Given the description of an element on the screen output the (x, y) to click on. 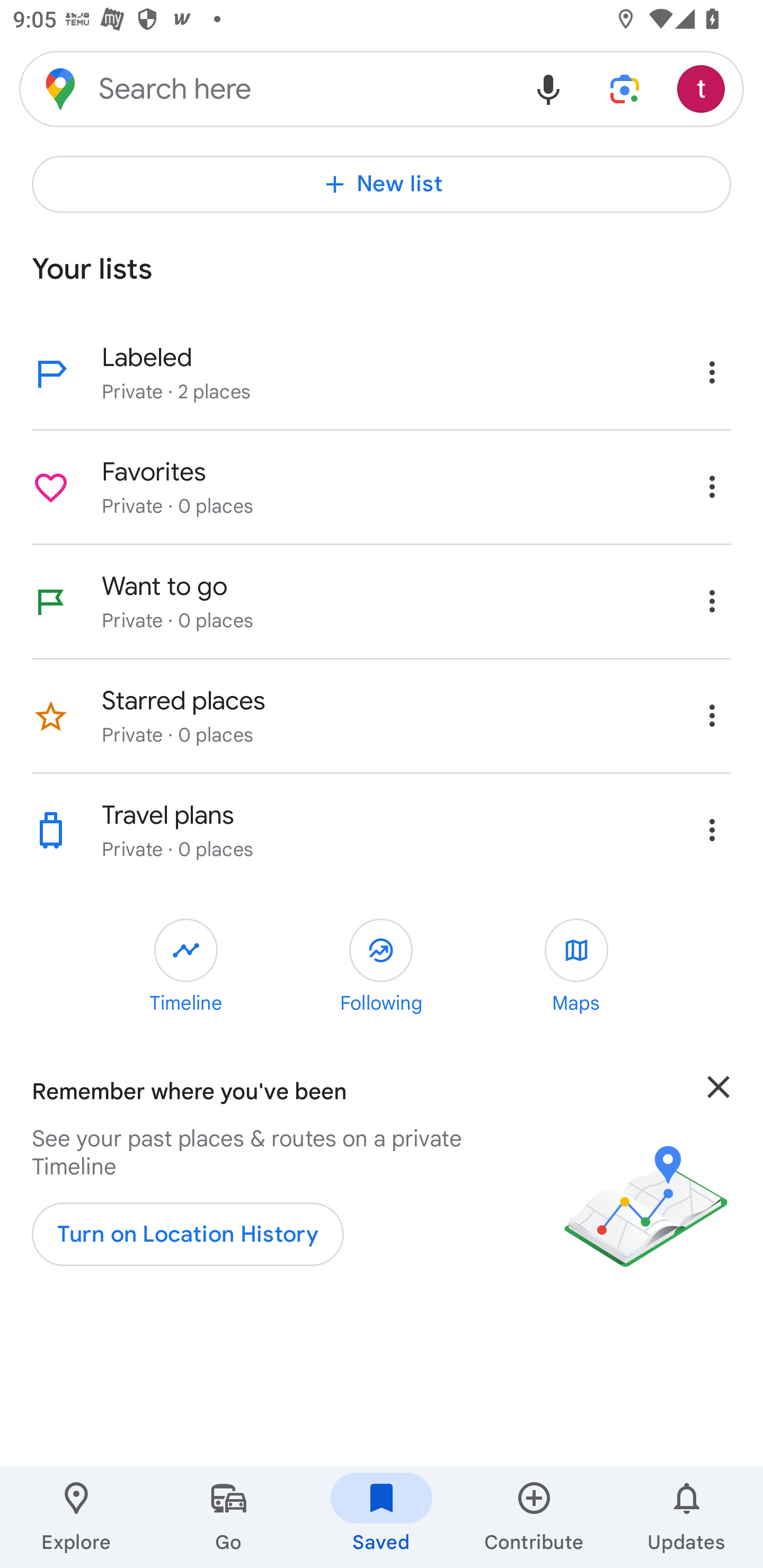
Search here (264, 88)
Voice search (548, 88)
Lens in Maps (624, 88)
New list (381, 183)
Settings for labeled places (711, 371)
Options for Favorites (711, 486)
Edit list (51, 487)
Options for Want to go (711, 600)
Edit list (51, 601)
Options for Starred places (711, 715)
Edit list (51, 716)
Options for Travel plans (711, 829)
Edit list (51, 830)
See Timeline See Timeline Timeline (186, 967)
See Maps See Maps Maps (576, 967)
Dismiss Location History promo (718, 1112)
Explore (76, 1517)
Go (228, 1517)
Contribute (533, 1517)
Updates (686, 1517)
